Given the description of an element on the screen output the (x, y) to click on. 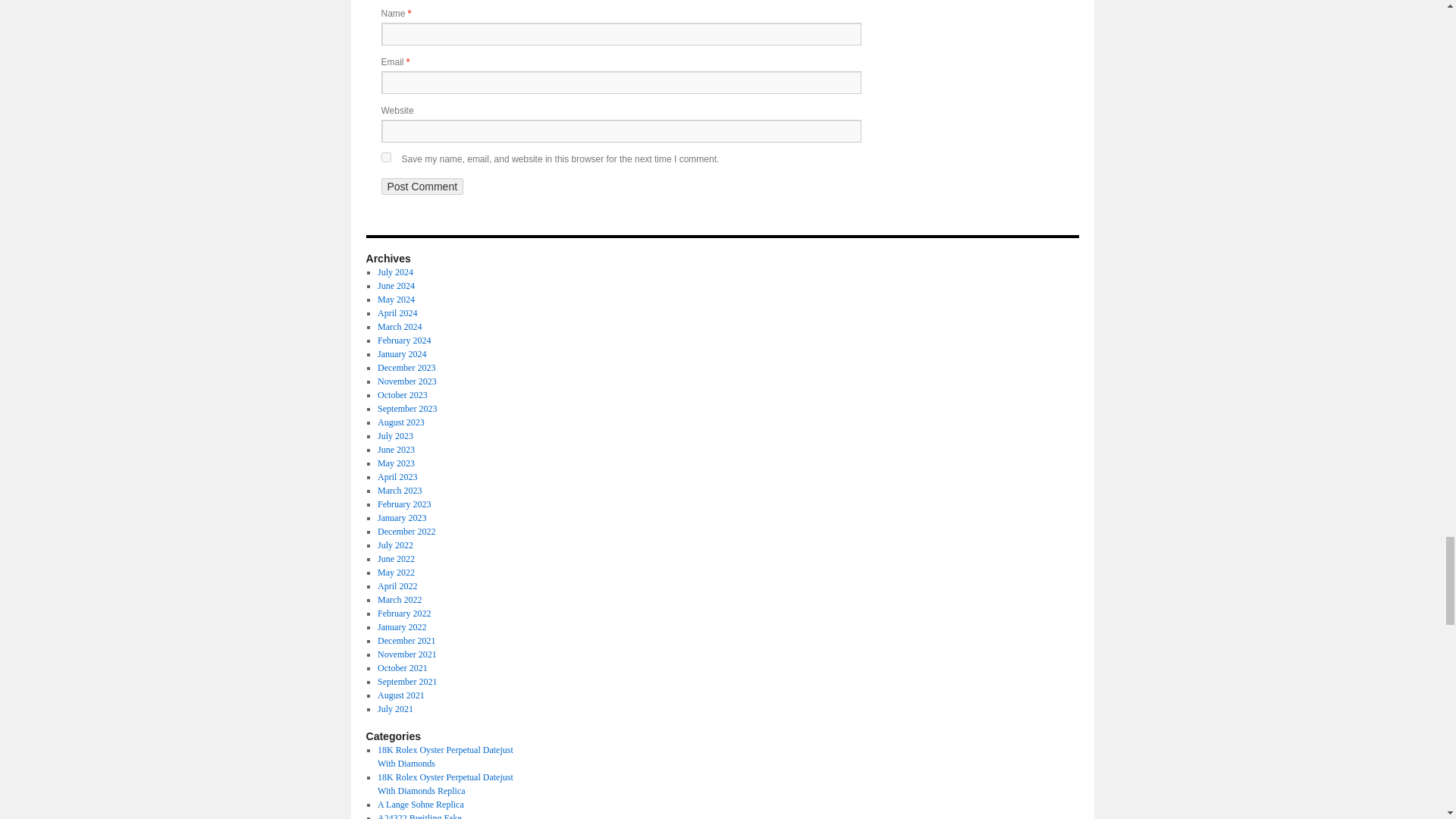
Post Comment (421, 186)
Post Comment (421, 186)
yes (385, 157)
